Given the description of an element on the screen output the (x, y) to click on. 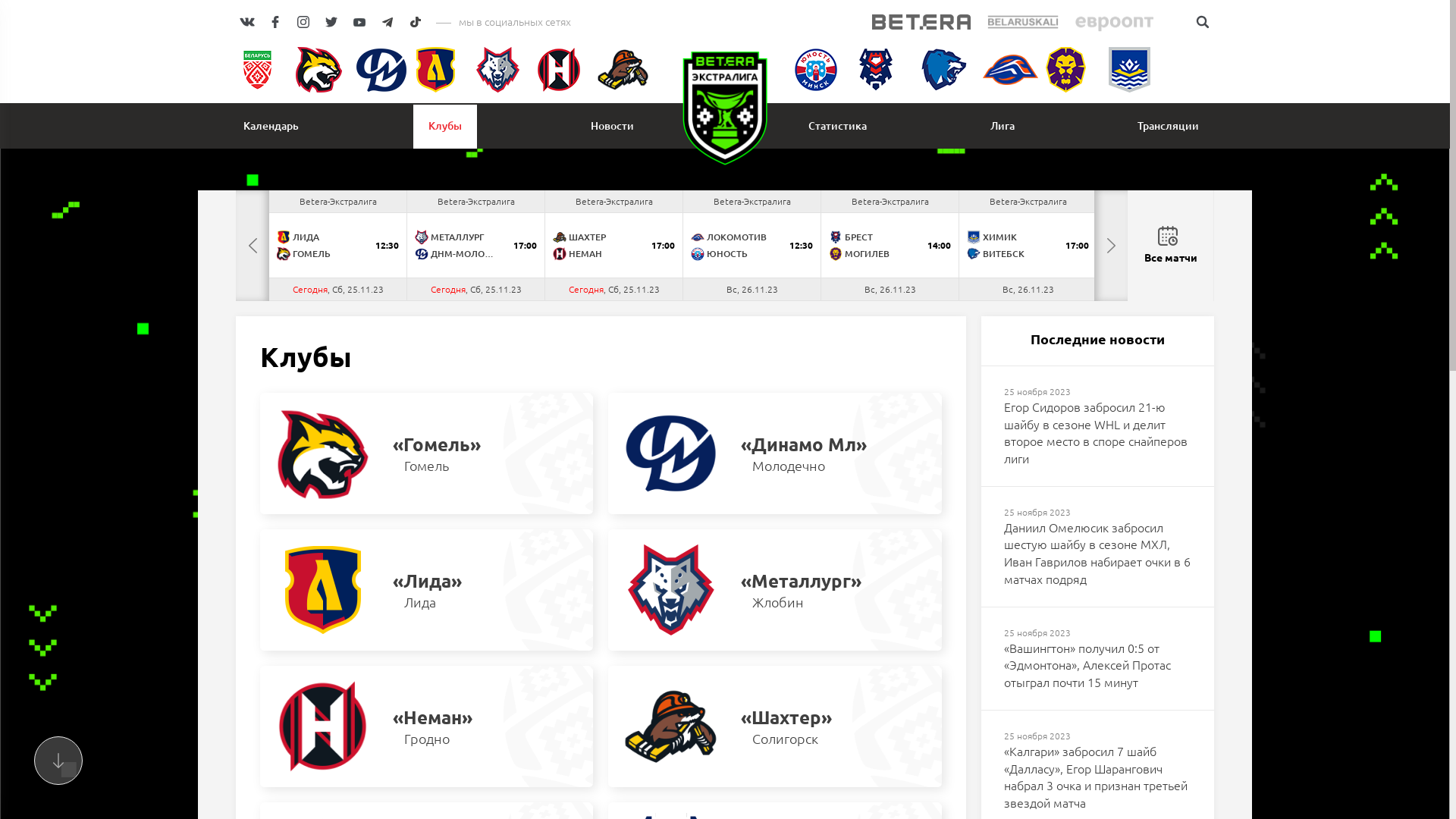
NEXT Element type: text (1110, 245)
PREVIOUS Element type: text (252, 245)
